Given the description of an element on the screen output the (x, y) to click on. 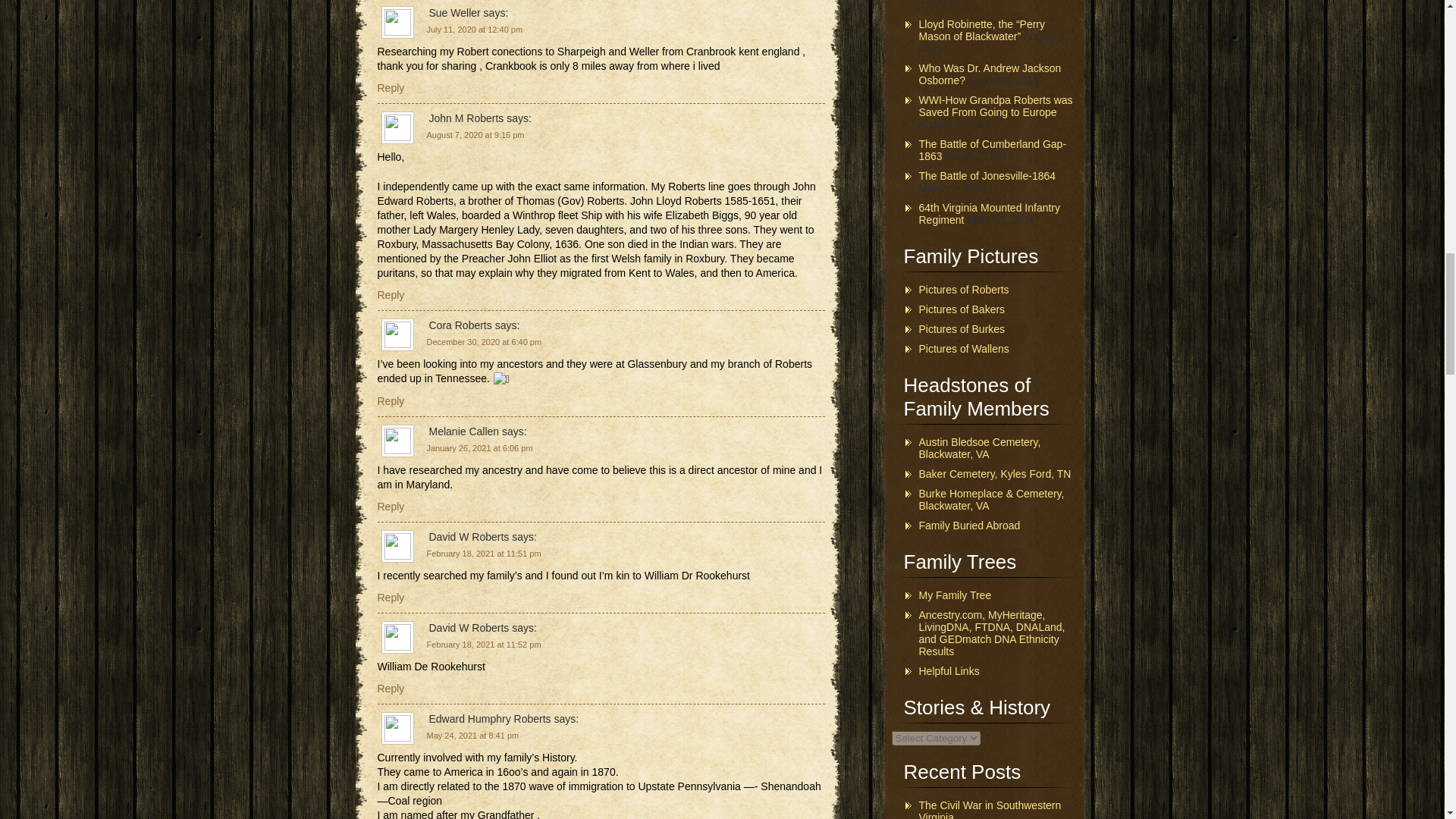
December 30, 2020 at 6:40 pm (483, 341)
July 11, 2020 at 12:40 pm (474, 29)
Reply (390, 688)
Reply (390, 295)
February 18, 2021 at 11:52 pm (483, 644)
August 7, 2020 at 9:16 pm (475, 134)
Reply (390, 87)
Reply (390, 506)
February 18, 2021 at 11:51 pm (483, 552)
Reply (390, 400)
